Given the description of an element on the screen output the (x, y) to click on. 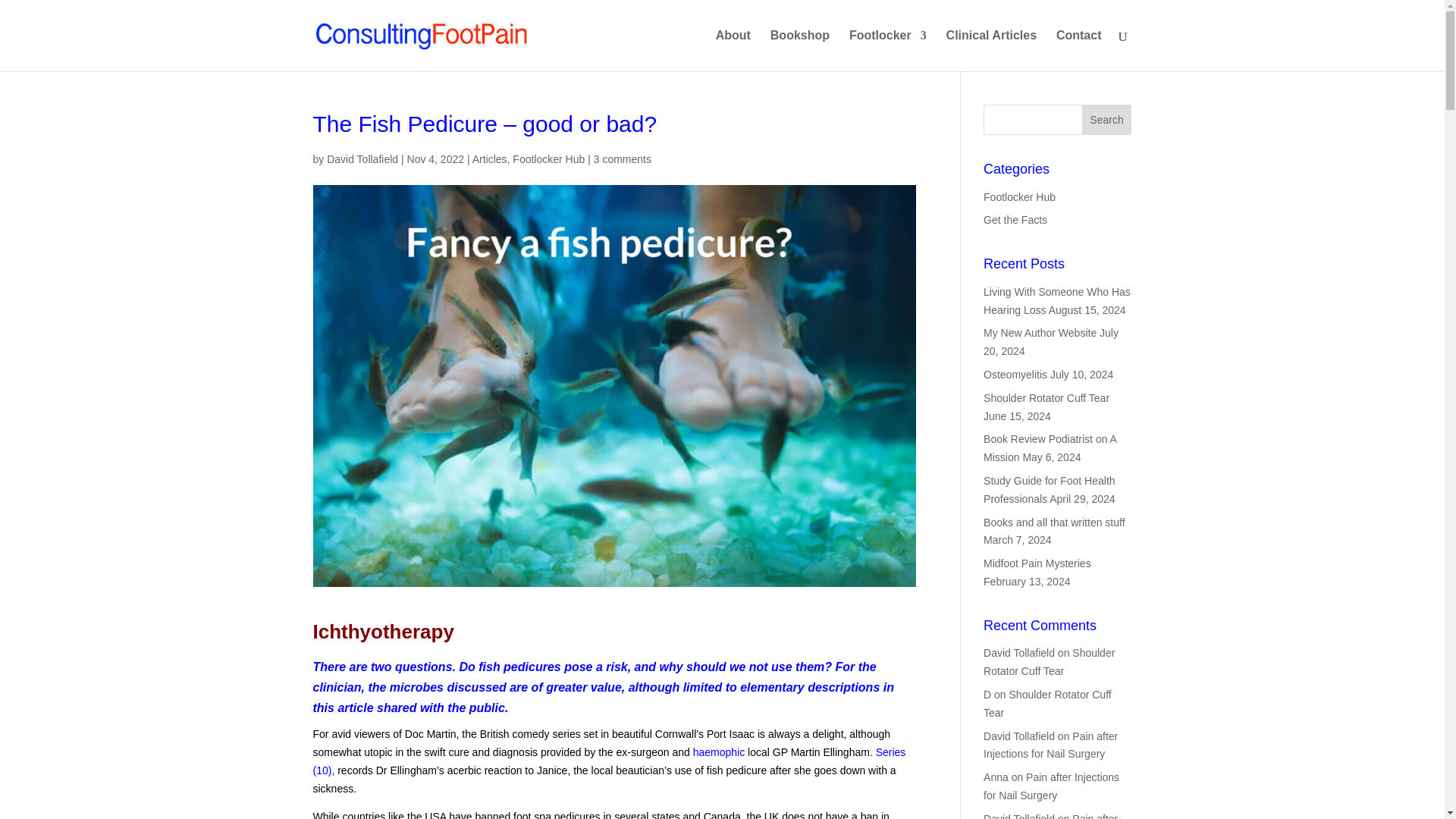
David Tollafield (361, 159)
Footlocker Hub (548, 159)
Contact (1079, 50)
Bookshop (799, 50)
haemophic (719, 752)
Footlocker (887, 50)
Search (1106, 119)
Articles (488, 159)
Posts by David Tollafield (361, 159)
Clinical Articles (991, 50)
